Given the description of an element on the screen output the (x, y) to click on. 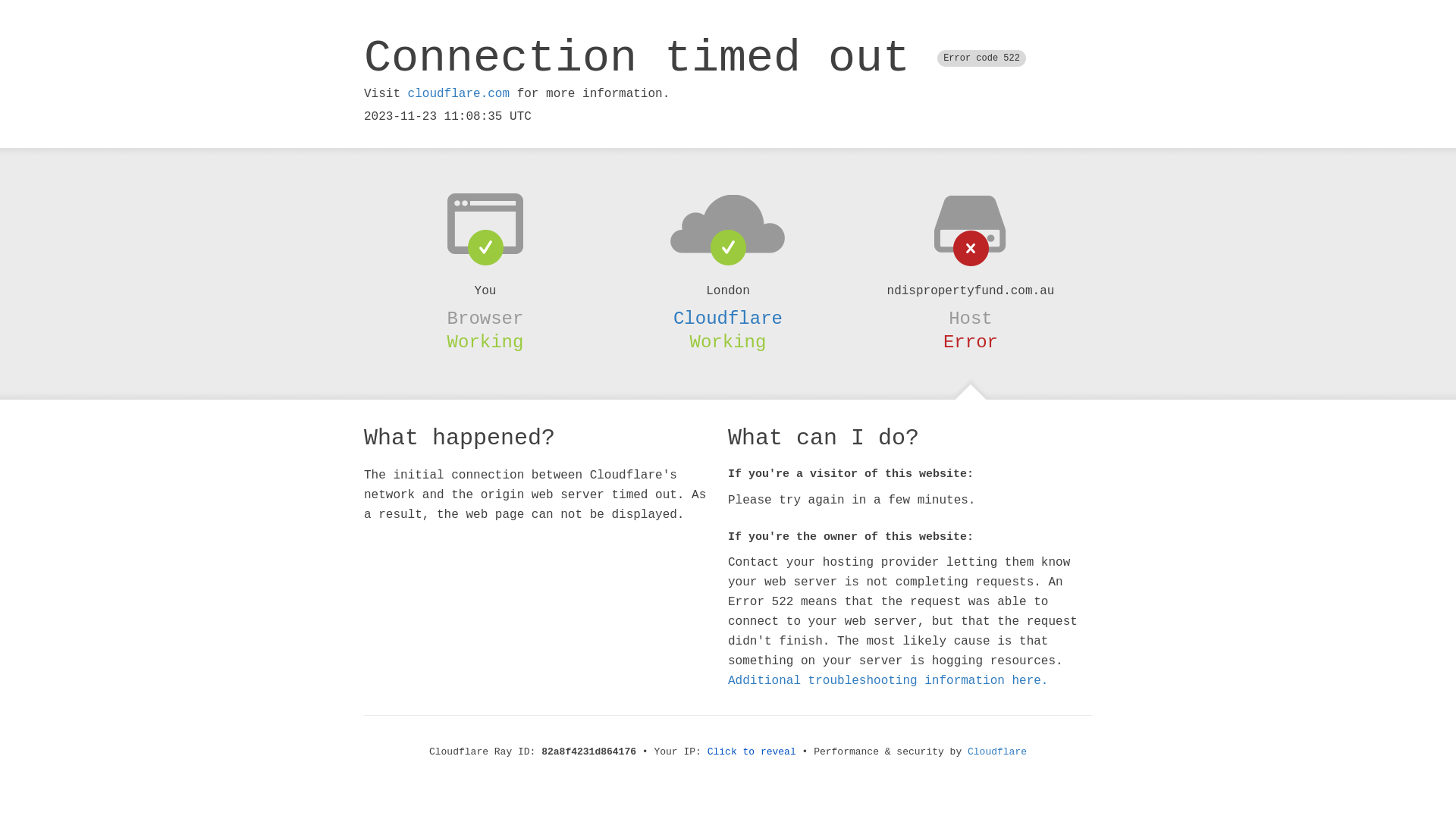
Additional troubleshooting information here. Element type: text (888, 680)
cloudflare.com Element type: text (458, 93)
Cloudflare Element type: text (996, 751)
Click to reveal Element type: text (751, 751)
Cloudflare Element type: text (727, 318)
